Given the description of an element on the screen output the (x, y) to click on. 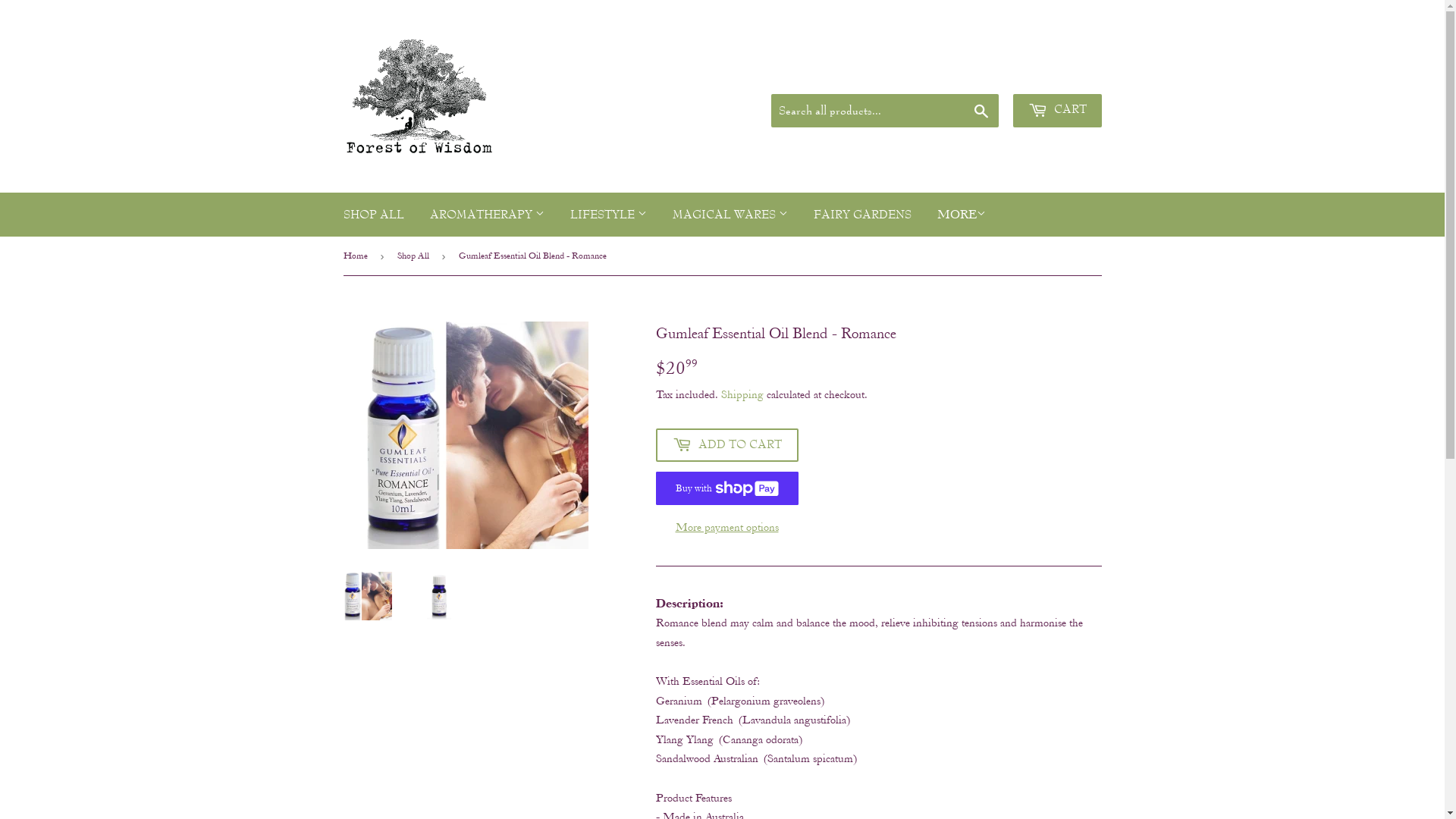
Shop All Element type: text (415, 255)
Search Element type: text (981, 111)
FAIRY GARDENS Element type: text (862, 214)
CART Element type: text (1057, 110)
AROMATHERAPY Element type: text (486, 214)
ADD TO CART Element type: text (726, 444)
Sign in Element type: text (975, 74)
Create an Account Element type: text (1057, 74)
MORE Element type: text (960, 213)
SHOP ALL Element type: text (373, 214)
LIFESTYLE Element type: text (607, 214)
Shipping Element type: text (741, 394)
MAGICAL WARES Element type: text (730, 214)
More payment options Element type: text (726, 527)
Home Element type: text (357, 255)
